Given the description of an element on the screen output the (x, y) to click on. 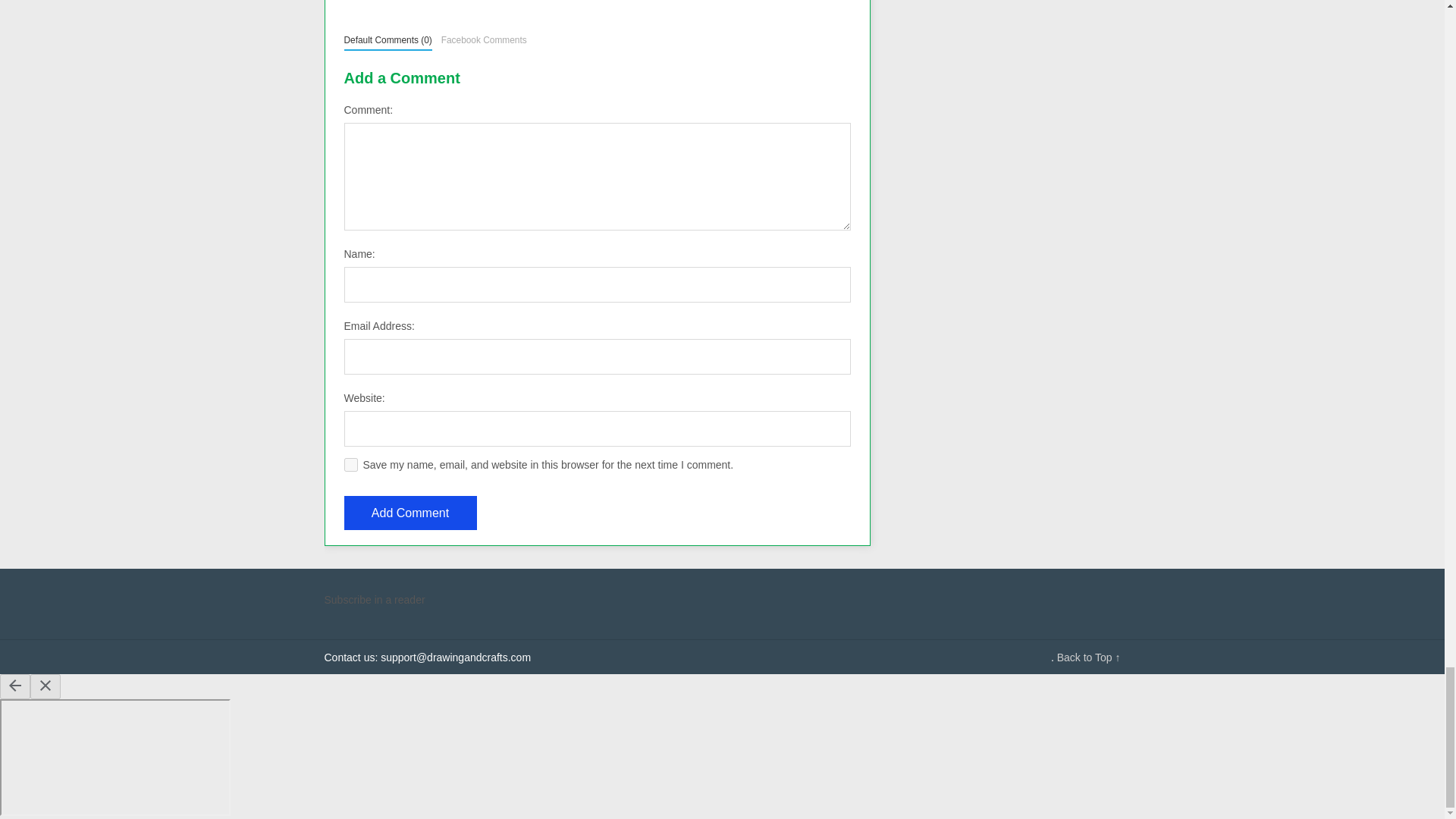
Add Comment (410, 512)
yes (350, 464)
